Given the description of an element on the screen output the (x, y) to click on. 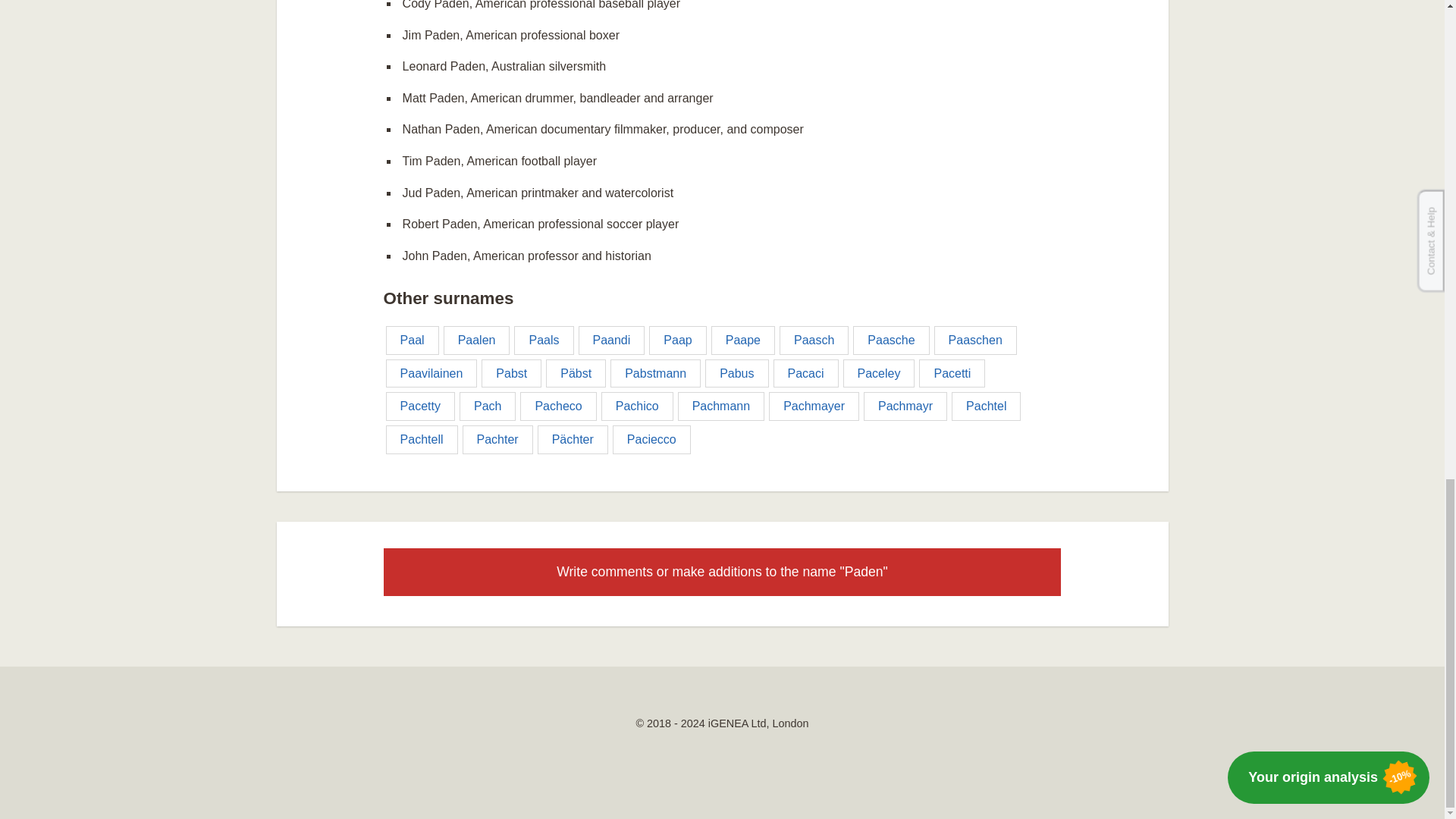
Pachico (636, 406)
Paceley (879, 373)
Pacheco (557, 406)
Paciecco (651, 439)
Write comments or make additions to the name "Paden" (722, 571)
Origin and meaning surname Pabus (736, 373)
Origin and meaning surname Paceley (879, 373)
Origin and meaning surname Pabstmann (655, 373)
Paasch (813, 339)
Origin and meaning surname Paalen (477, 339)
Origin and meaning surname Pacaci (805, 373)
Origin and meaning surname Paaschen (975, 339)
Paals (543, 339)
Paandi (611, 339)
Origin and meaning surname Paavilainen (431, 373)
